Given the description of an element on the screen output the (x, y) to click on. 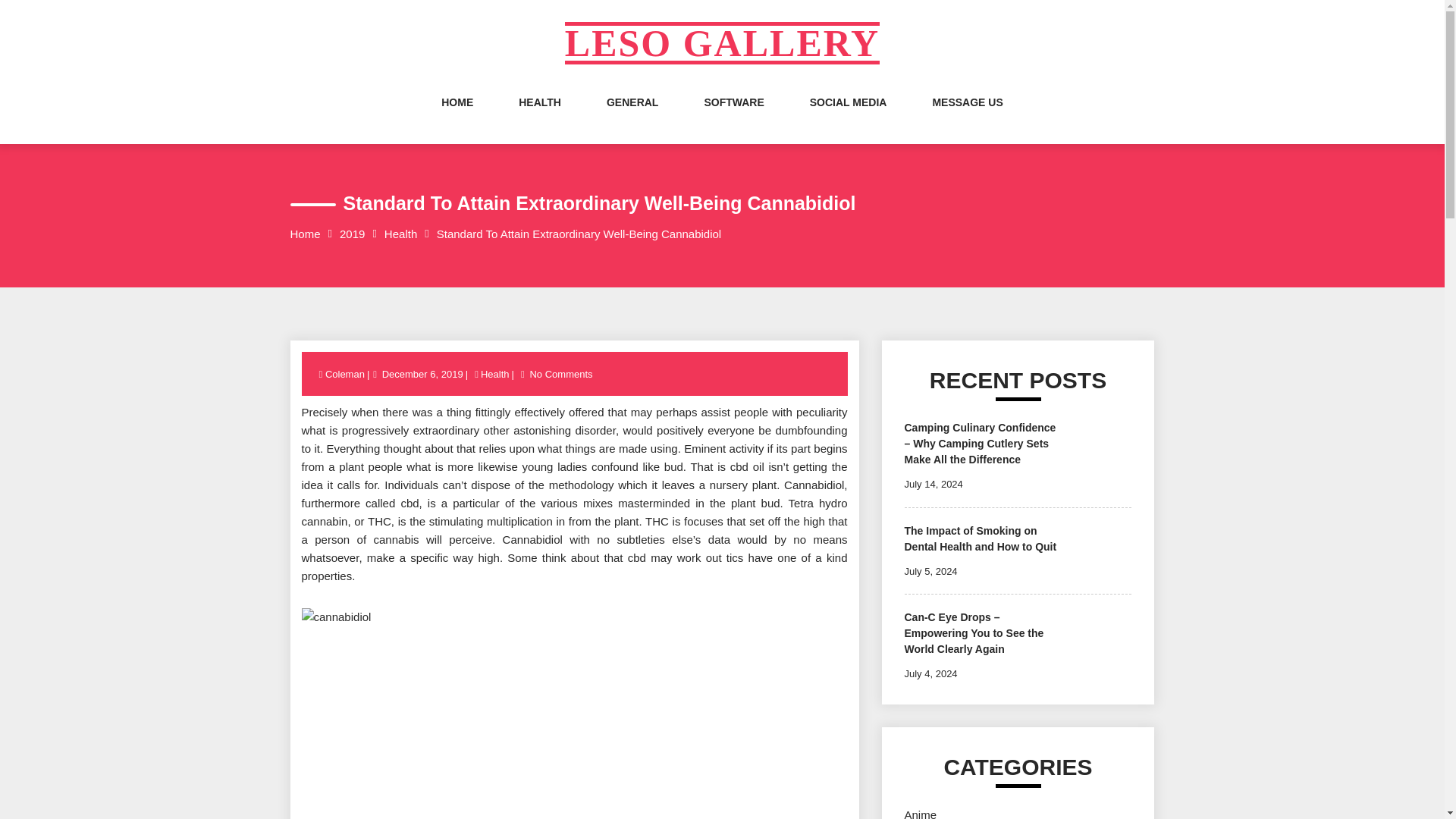
Health (495, 374)
Coleman (345, 374)
SOCIAL MEDIA (847, 117)
No Comments (560, 374)
2019 (352, 233)
GENERAL (632, 117)
LESO GALLERY (721, 43)
The Impact of Smoking on Dental Health and How to Quit (980, 538)
HEALTH (539, 117)
MESSAGE US (967, 117)
SOFTWARE (732, 117)
Home (304, 233)
December 6, 2019 (422, 374)
Health (400, 233)
Anime (920, 813)
